Given the description of an element on the screen output the (x, y) to click on. 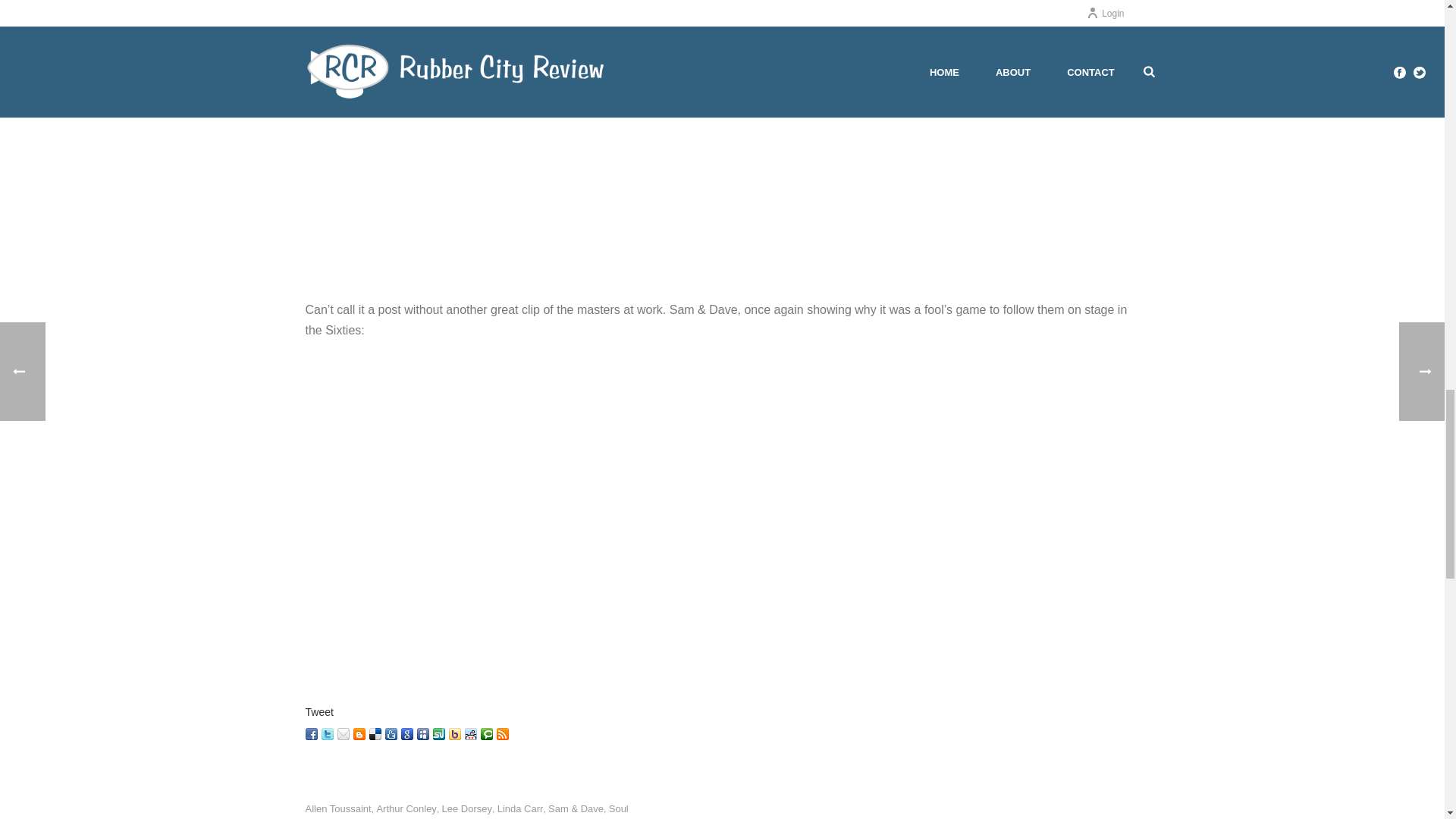
Email a Friend (342, 734)
Lee Dorsey (467, 808)
Share on Myspace (422, 734)
Allen Toussaint (337, 808)
Share on Delicious (374, 734)
Arthur Conley (405, 808)
Linda Carr (520, 808)
Share on Twitter (327, 734)
Share on Google (406, 734)
Share on StumbleUpon (438, 734)
Share on Digg (391, 734)
Tweet (318, 711)
Share on Facebook (310, 734)
Share on Blogger (359, 734)
